Given the description of an element on the screen output the (x, y) to click on. 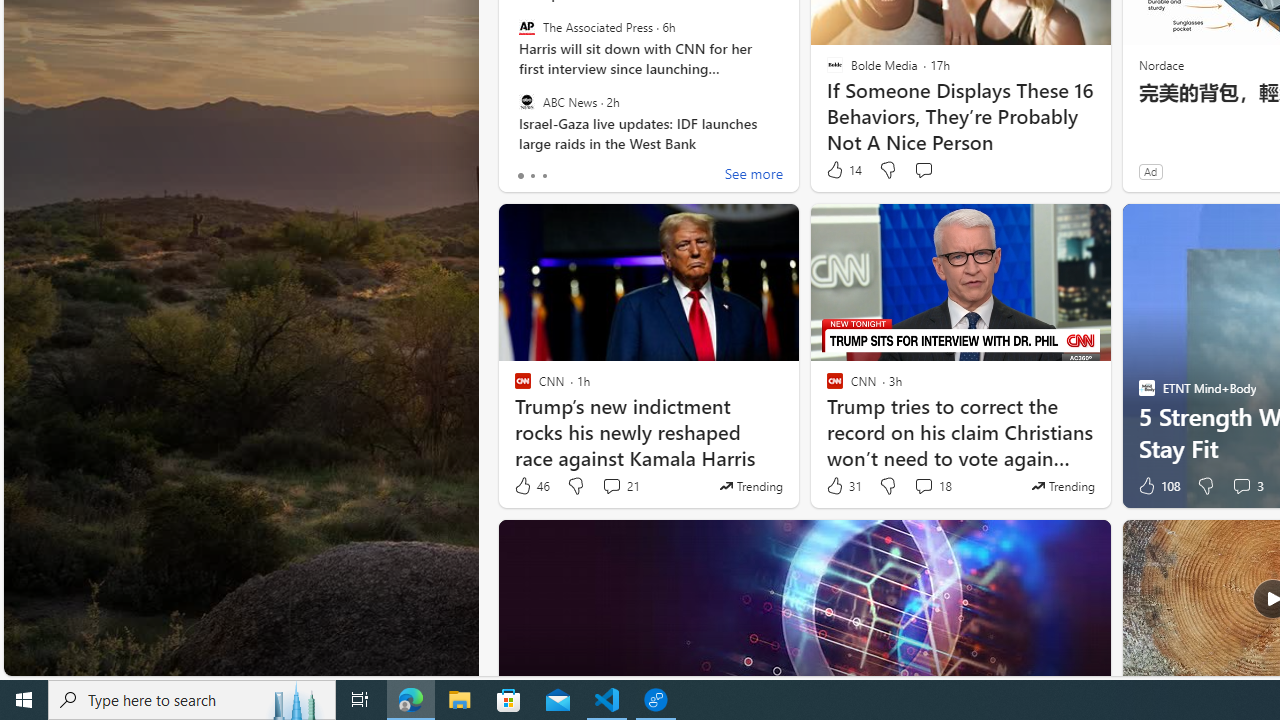
31 Like (843, 485)
Dislike (1204, 485)
See more (753, 175)
14 Like (843, 170)
tab-0 (520, 175)
View comments 21 Comment (619, 485)
View comments 3 Comment (1247, 485)
tab-2 (543, 175)
Start the conversation (923, 169)
View comments 3 Comment (1241, 485)
